Given the description of an element on the screen output the (x, y) to click on. 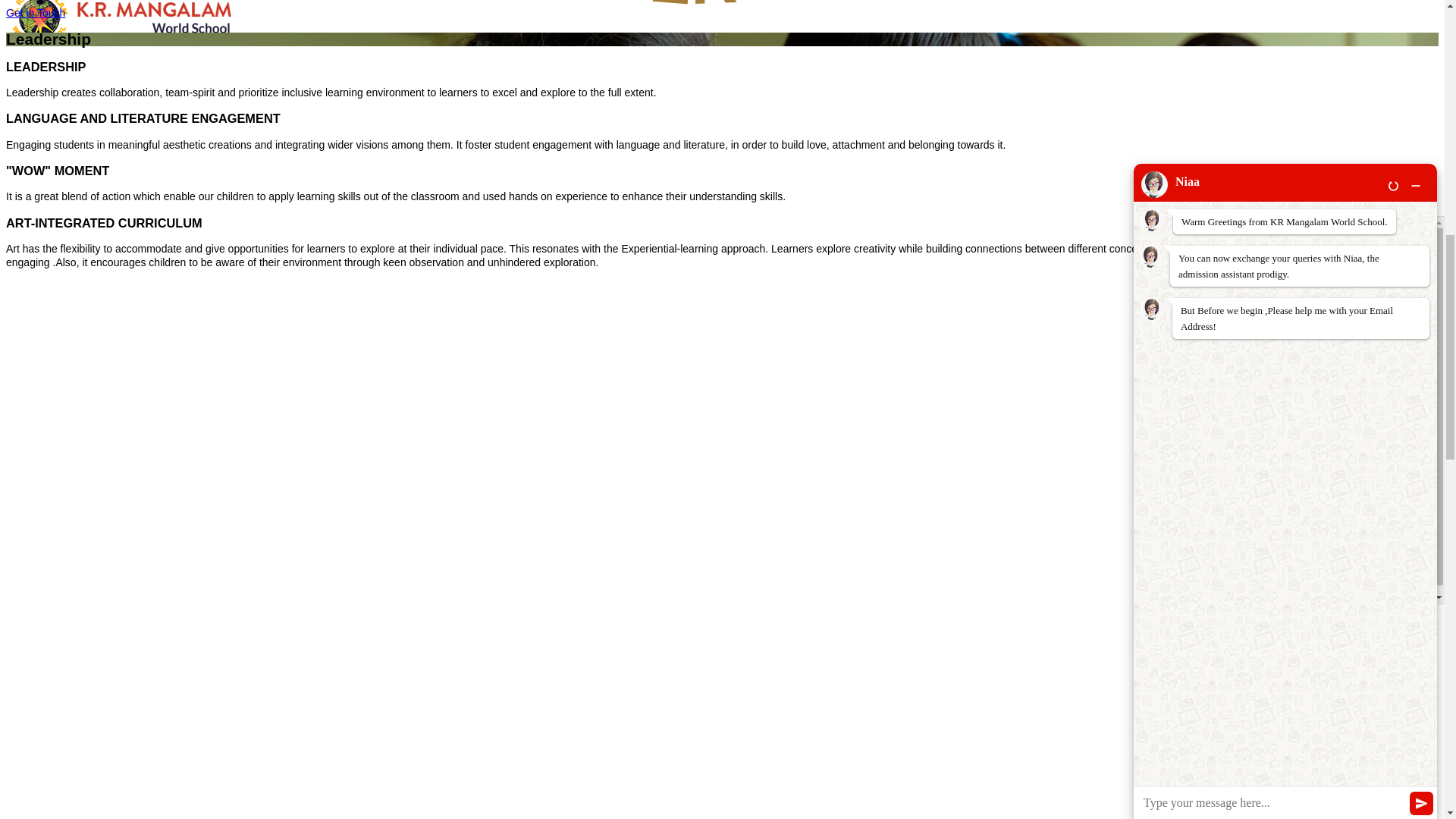
KRM World School Greater Noida (695, 23)
KRM World School Greater Noida (121, 23)
